Given the description of an element on the screen output the (x, y) to click on. 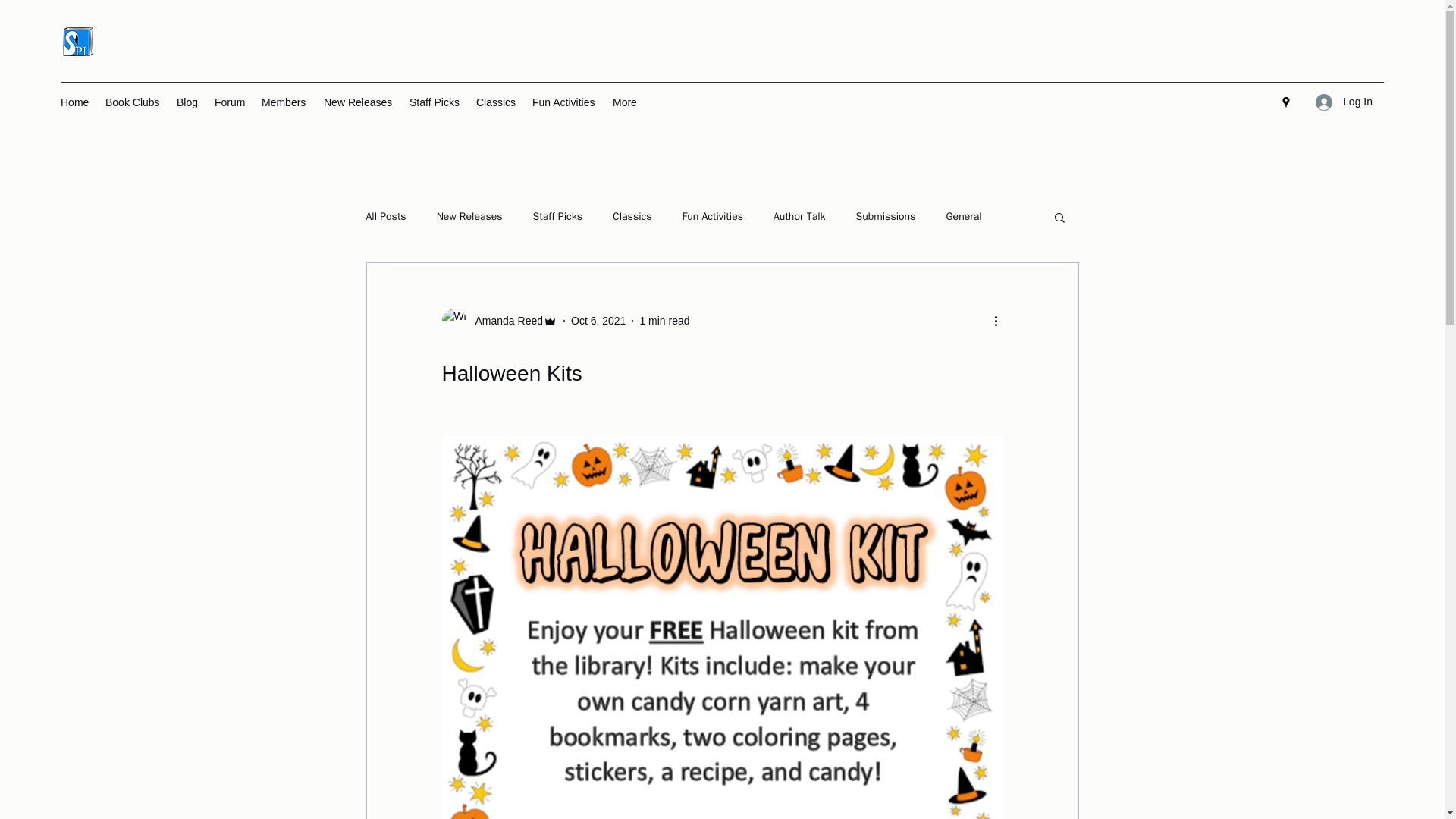
Members (284, 101)
Book Clubs (132, 101)
Log In (1343, 101)
General (962, 216)
Fun Activities (564, 101)
Home (74, 101)
Forum (229, 101)
Classics (631, 216)
Classics (496, 101)
New Releases (469, 216)
